Given the description of an element on the screen output the (x, y) to click on. 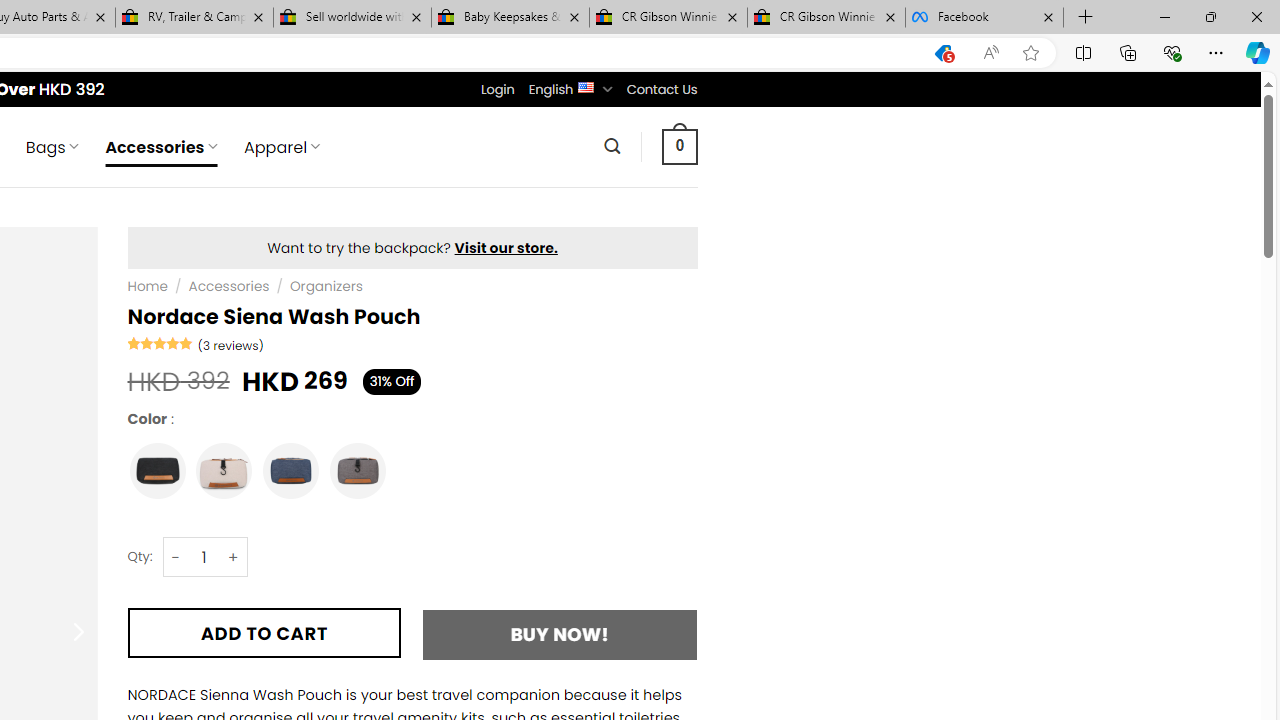
Nordace Siena Wash Pouch quantity (204, 557)
BUY NOW! (559, 634)
 0  (679, 146)
Login (497, 89)
Accessories (229, 286)
Organizers (326, 286)
RV, Trailer & Camper Steps & Ladders for sale | eBay (194, 17)
